Given the description of an element on the screen output the (x, y) to click on. 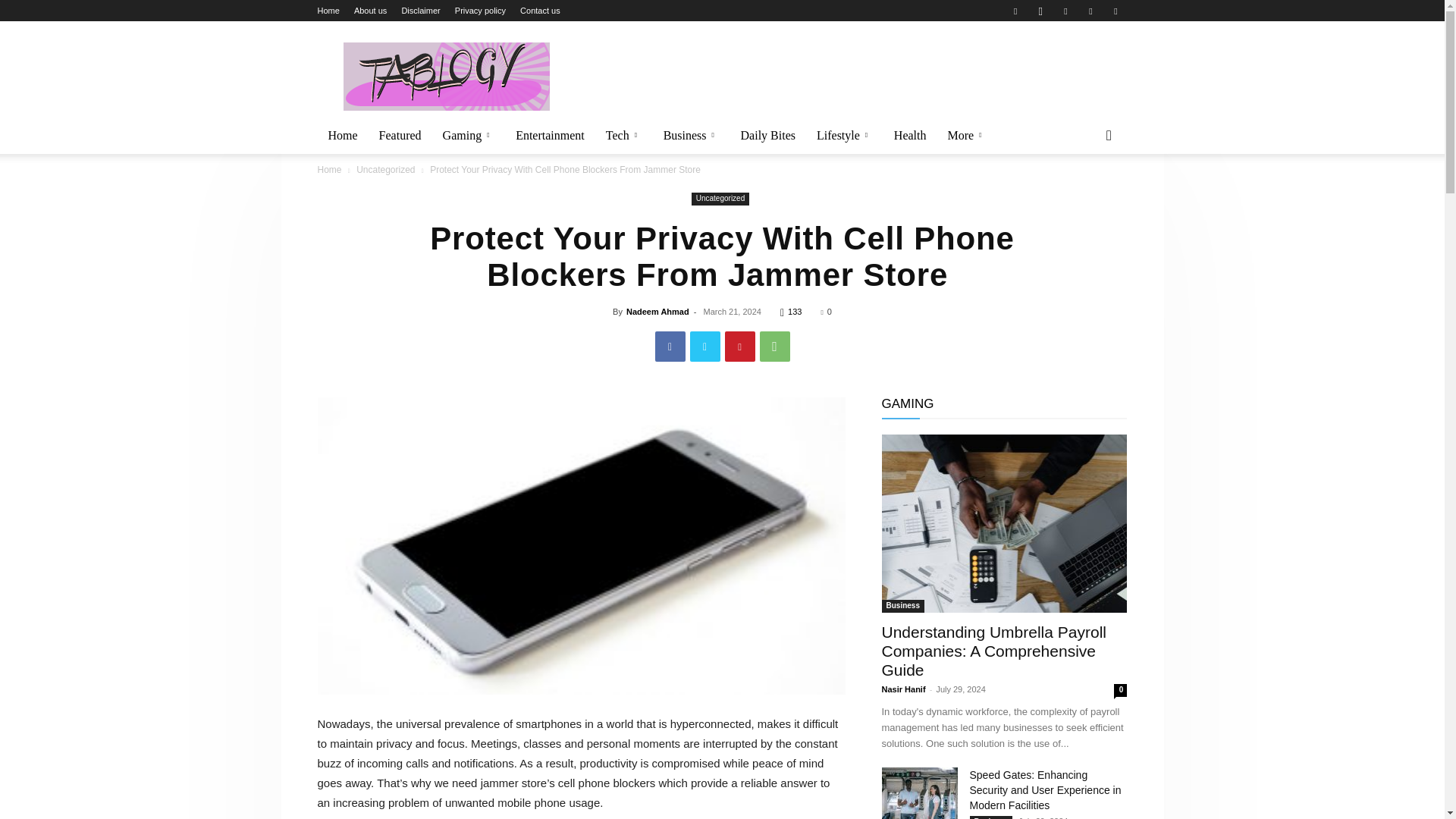
Twitter (705, 346)
Instagram (1040, 10)
Twitter (1065, 10)
View all posts in Uncategorized (385, 169)
About us (370, 10)
Disclaimer (420, 10)
Facebook (1015, 10)
Pinterest (740, 346)
Facebook (670, 346)
Home (328, 10)
Contact us (539, 10)
Privacy policy (479, 10)
Vimeo (1090, 10)
Youtube (1114, 10)
WhatsApp (775, 346)
